Given the description of an element on the screen output the (x, y) to click on. 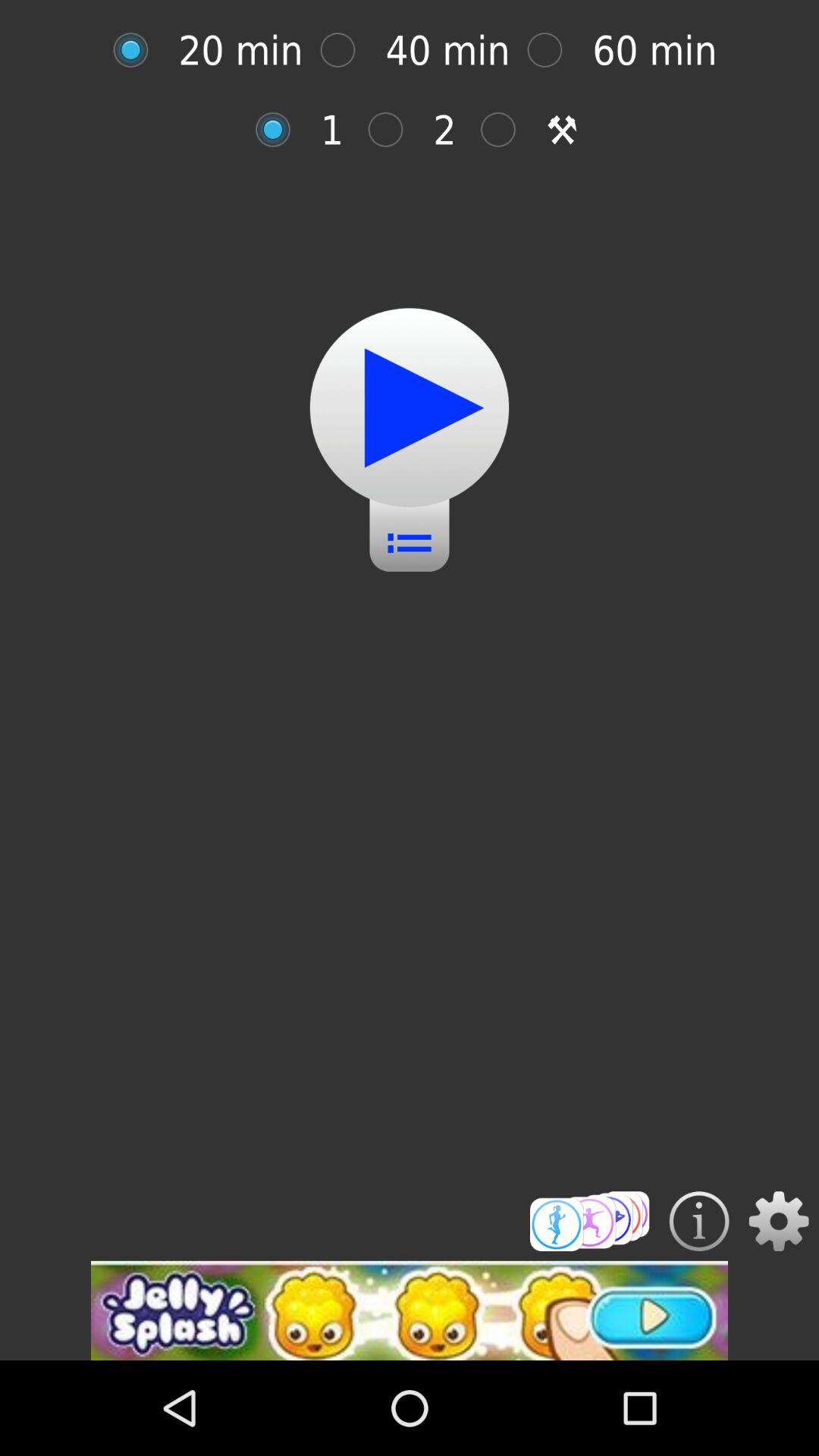
play button (138, 49)
